Given the description of an element on the screen output the (x, y) to click on. 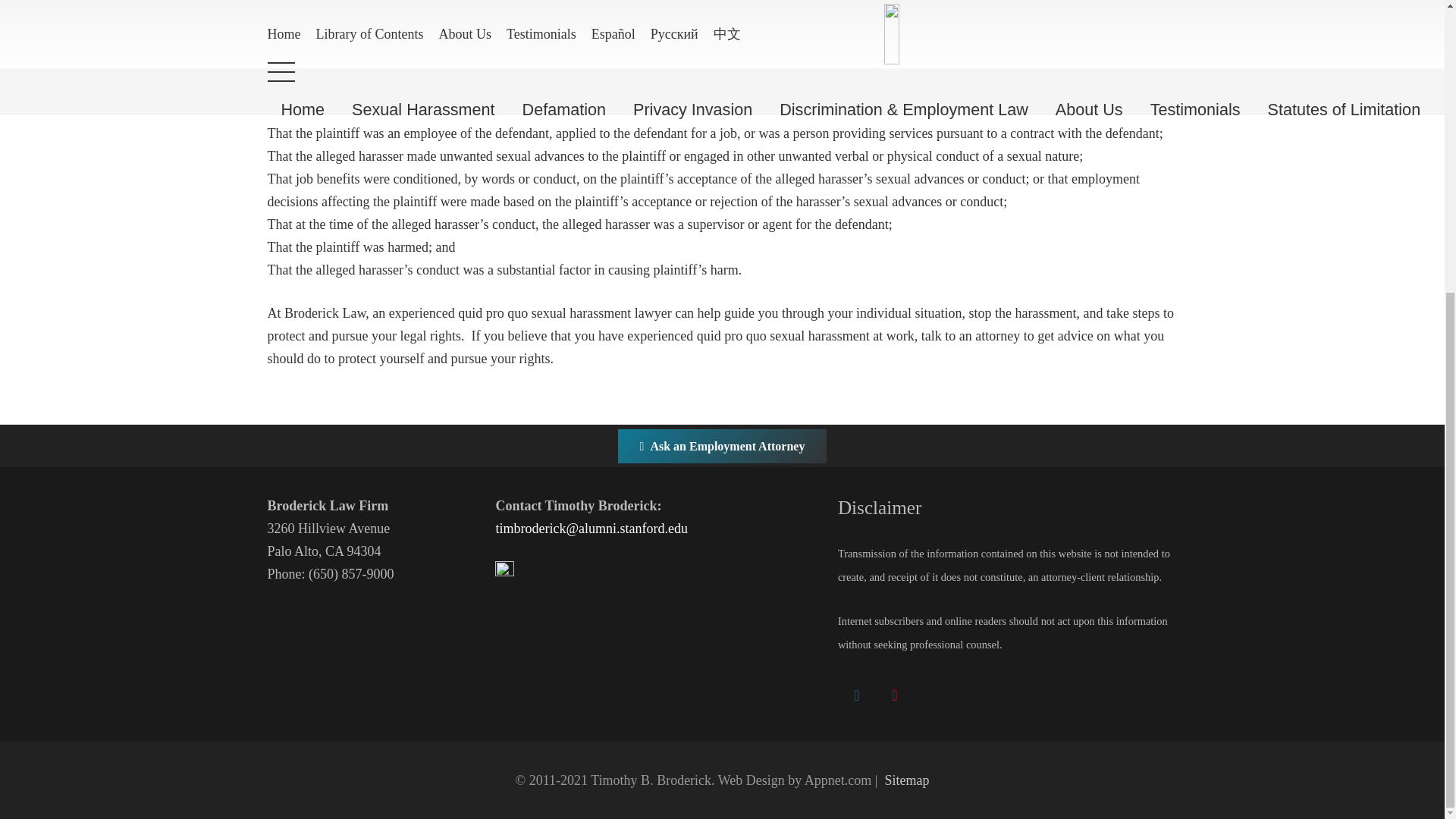
YouTube (895, 695)
LinkedIn (857, 695)
Back to top (30, 408)
